Given the description of an element on the screen output the (x, y) to click on. 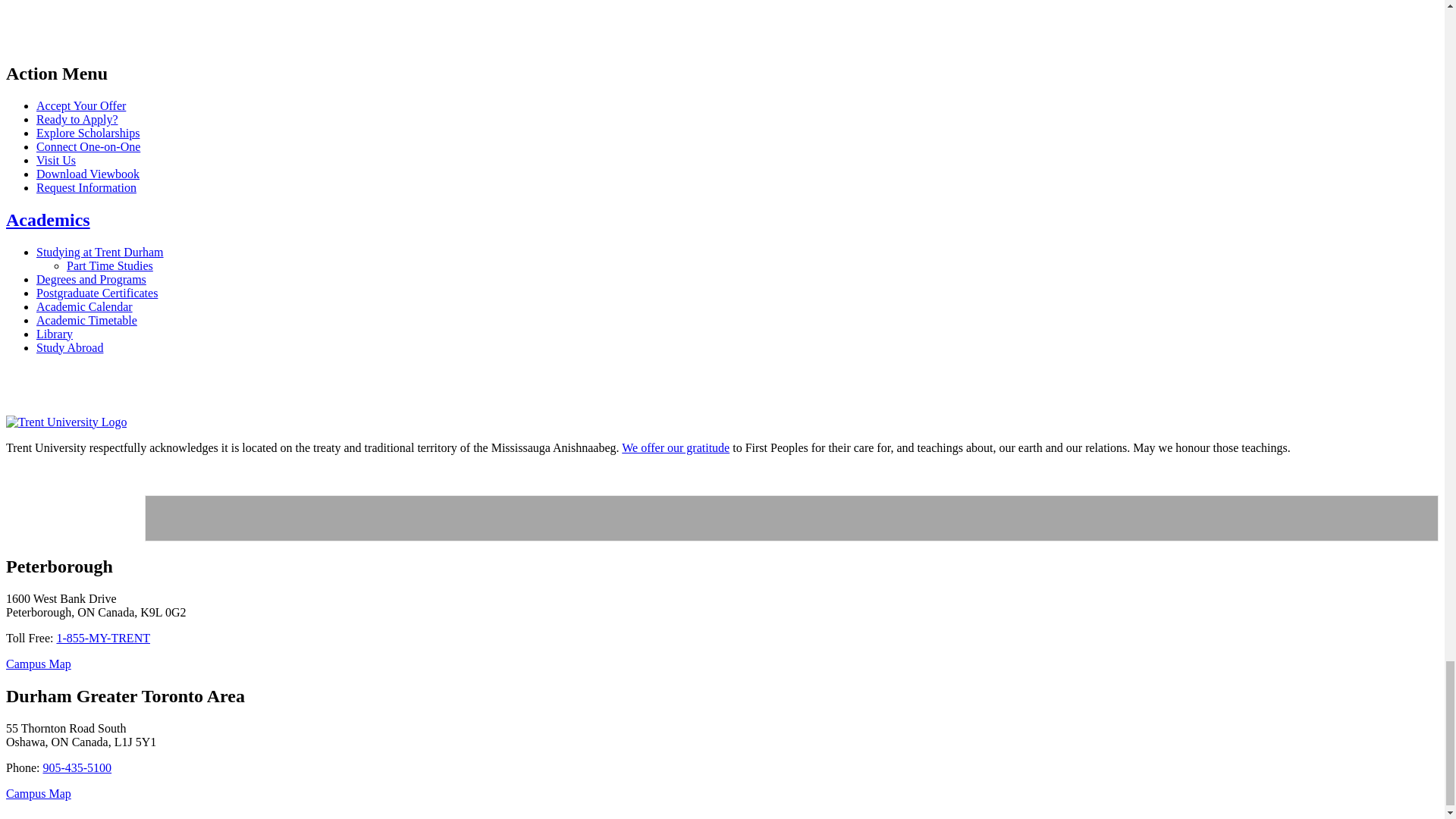
Footer link to homepage (65, 420)
